Given the description of an element on the screen output the (x, y) to click on. 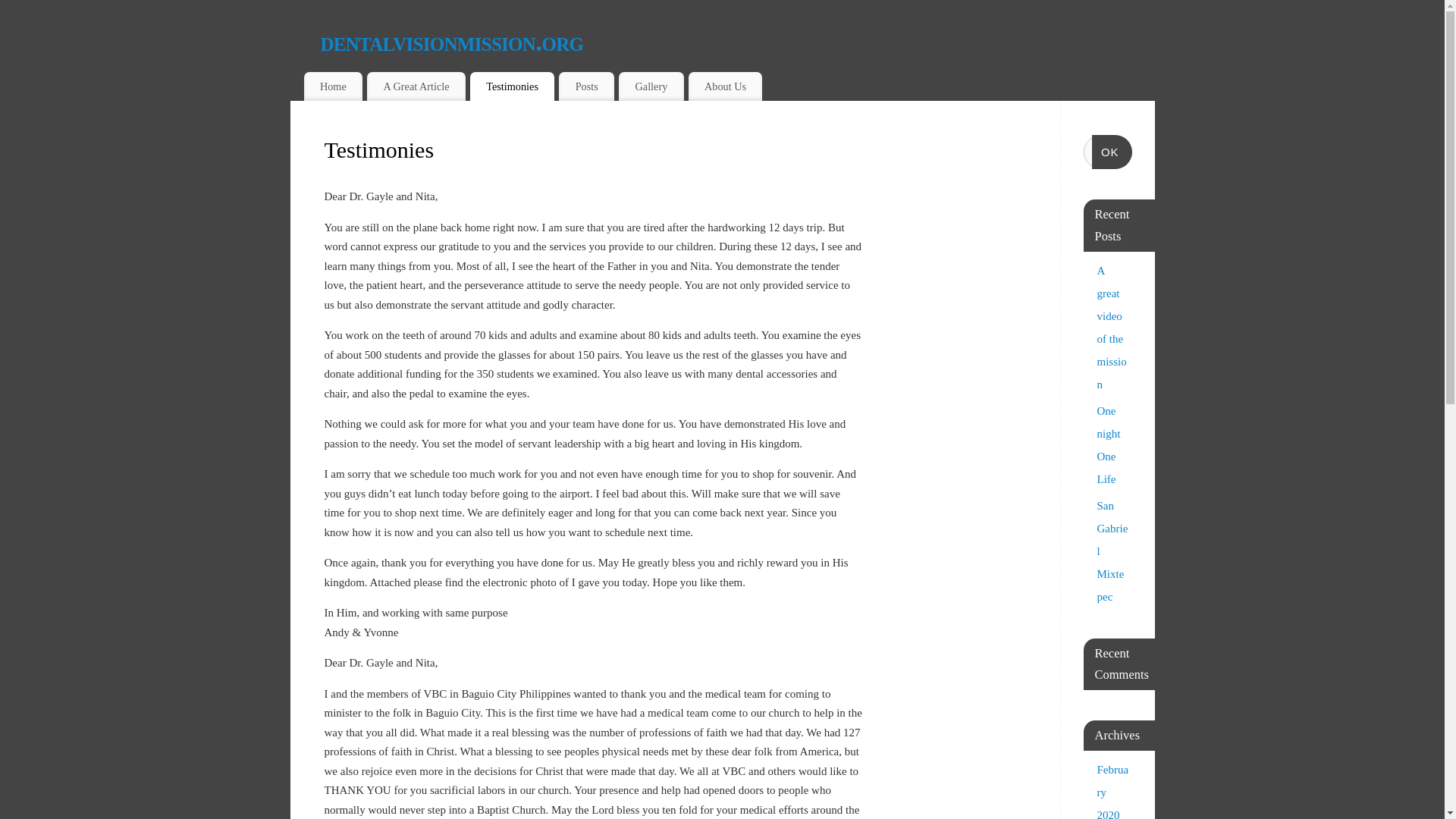
Posts (586, 86)
dentalvisionmission.org (737, 41)
Testimonies (512, 86)
About Us (725, 86)
dentalvisionmission.org (737, 41)
A Great Article (415, 86)
Gallery (650, 86)
Home (332, 86)
OK (1112, 151)
